Given the description of an element on the screen output the (x, y) to click on. 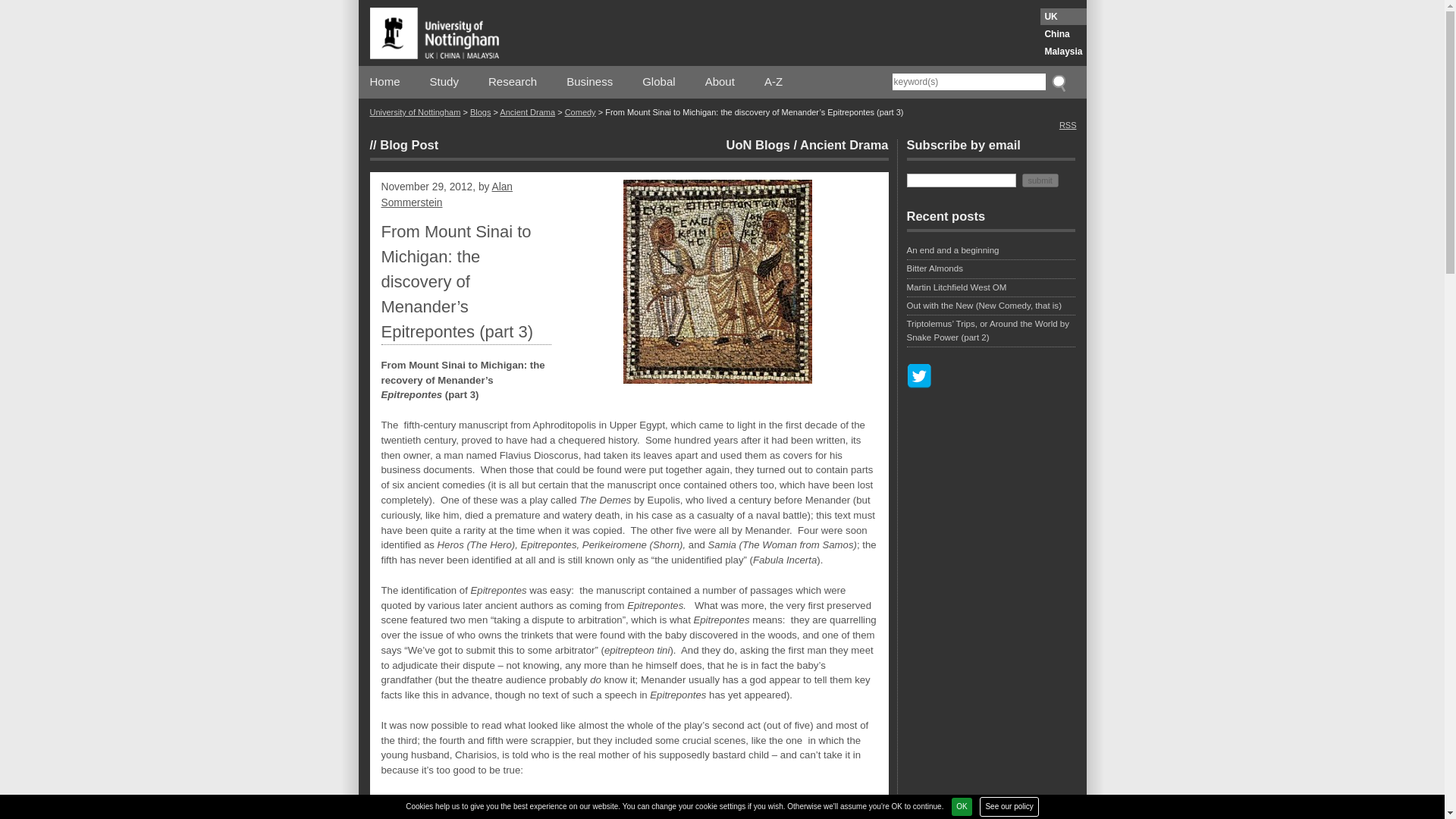
See our policy (1008, 806)
An end and a beginning (991, 252)
Malaysia (1063, 51)
UK (1063, 16)
Blogs (481, 112)
RSS (1068, 123)
Home (384, 81)
Business (589, 81)
Comedy (579, 112)
About (719, 81)
Global (658, 81)
OK (961, 806)
Study (443, 81)
Research (512, 81)
Ancient Drama (843, 144)
